Given the description of an element on the screen output the (x, y) to click on. 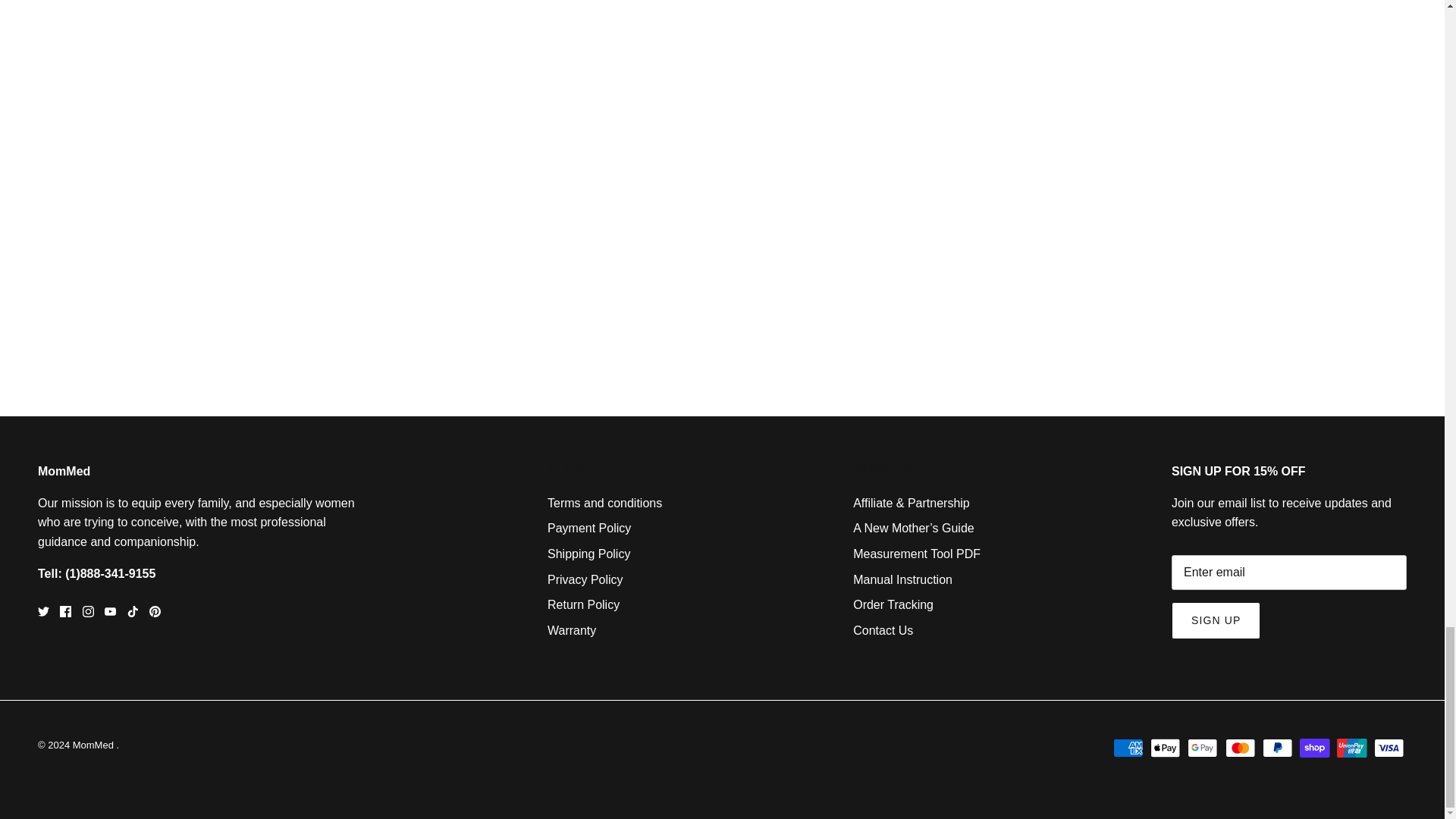
Union Pay (1351, 747)
Visa (1388, 747)
Google Pay (1202, 747)
Mastercard (1240, 747)
Apple Pay (1165, 747)
Shop Pay (1314, 747)
Facebook (65, 611)
Youtube (110, 611)
Twitter (43, 611)
PayPal (1277, 747)
Instagram (88, 611)
American Express (1127, 747)
Pinterest (154, 611)
